Given the description of an element on the screen output the (x, y) to click on. 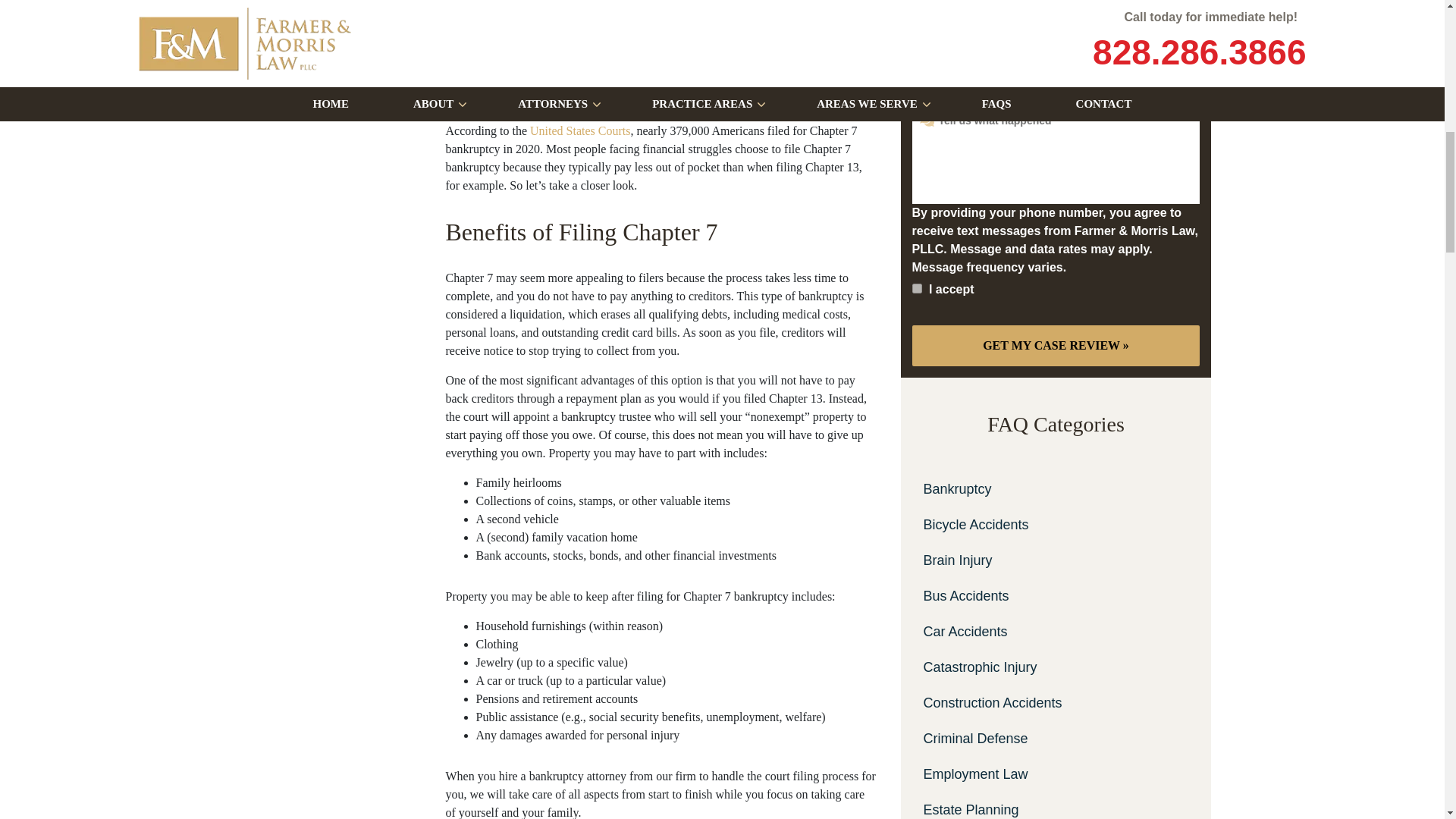
I accept (916, 288)
